Given the description of an element on the screen output the (x, y) to click on. 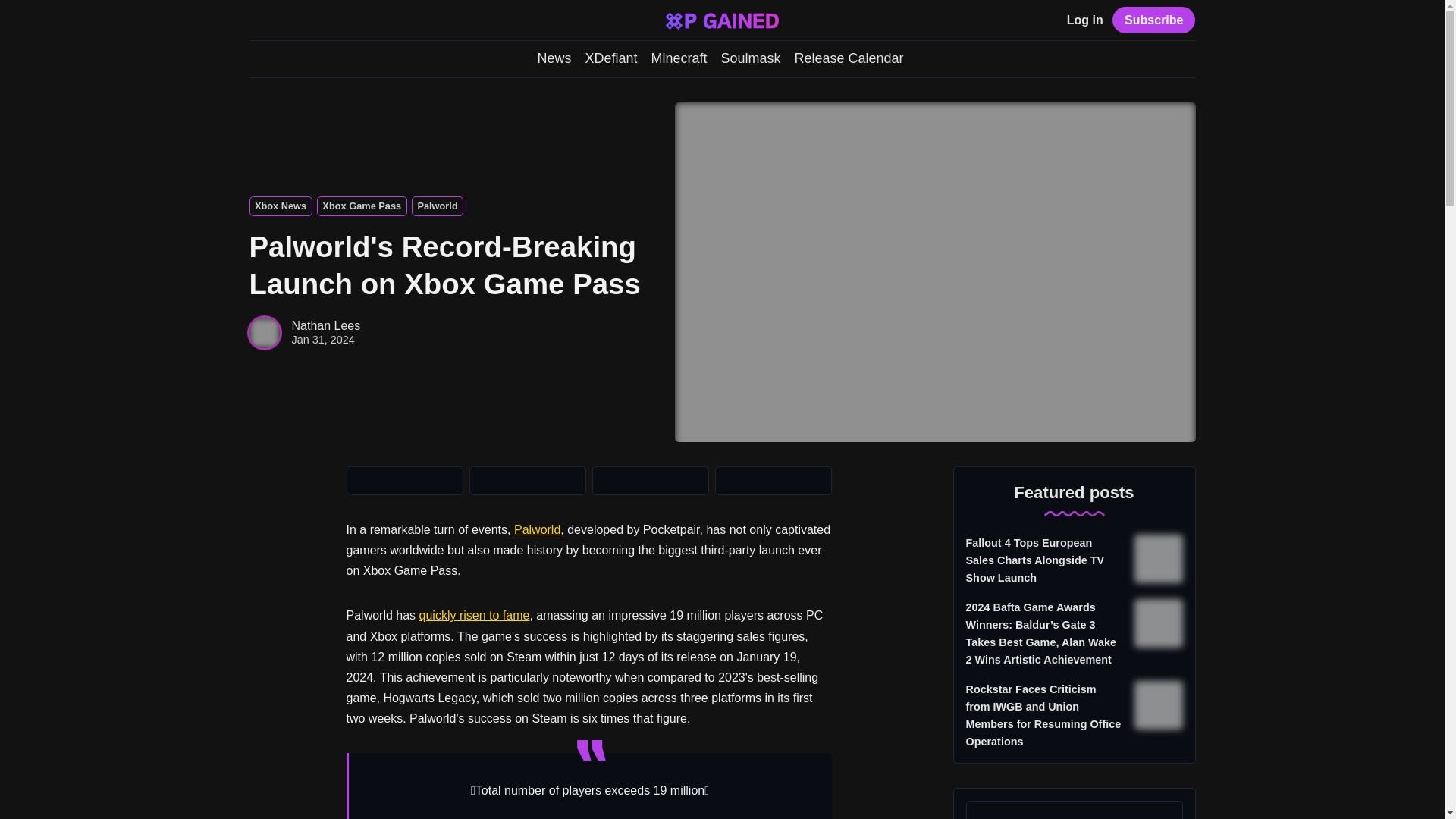
Minecraft (678, 58)
Xbox Game Pass (362, 206)
Xbox News (279, 206)
Share on Twitter (404, 480)
Search (255, 20)
Palworld (437, 206)
News (553, 58)
Xbox News (279, 206)
Share on Facebook (526, 480)
Palworld (437, 206)
